Given the description of an element on the screen output the (x, y) to click on. 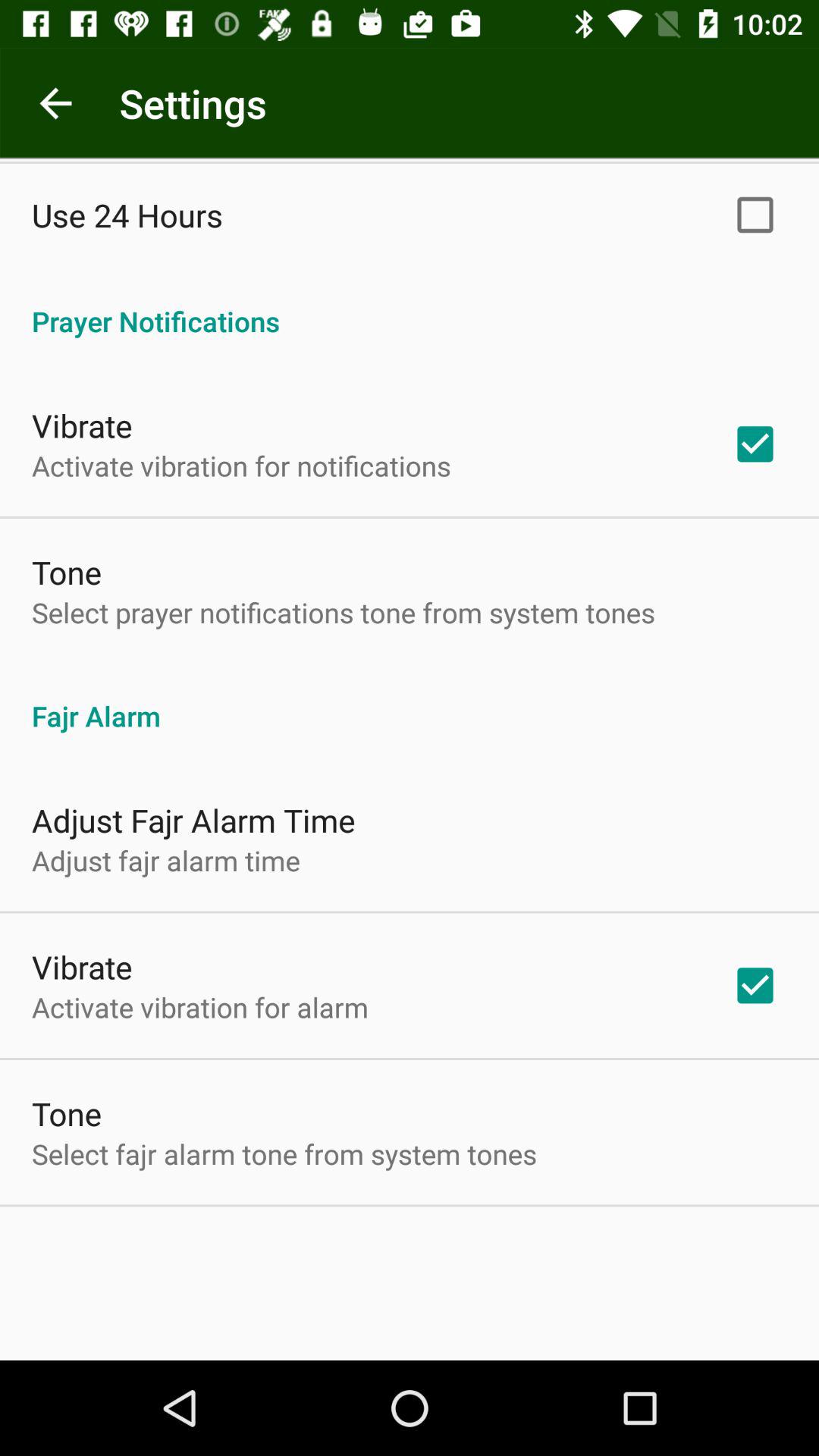
select the icon to the left of settings app (55, 103)
